Given the description of an element on the screen output the (x, y) to click on. 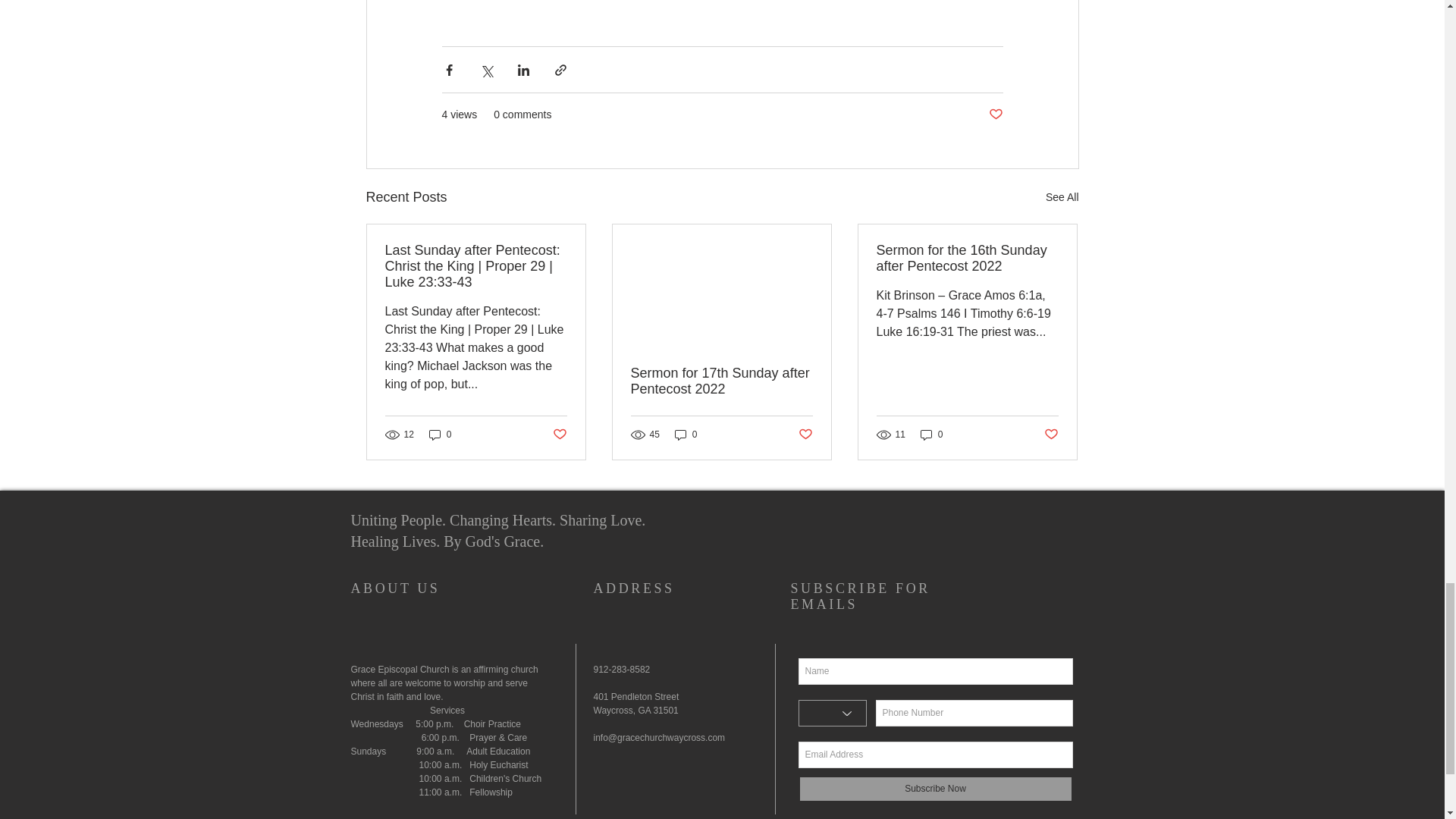
0 (440, 434)
0 (931, 434)
Sermon for 17th Sunday after Pentecost 2022 (721, 381)
Post not marked as liked (558, 433)
Subscribe Now (934, 788)
See All (1061, 197)
Sermon for the 16th Sunday after Pentecost 2022 (967, 258)
Post not marked as liked (804, 433)
Post not marked as liked (995, 114)
Post not marked as liked (1050, 433)
